Given the description of an element on the screen output the (x, y) to click on. 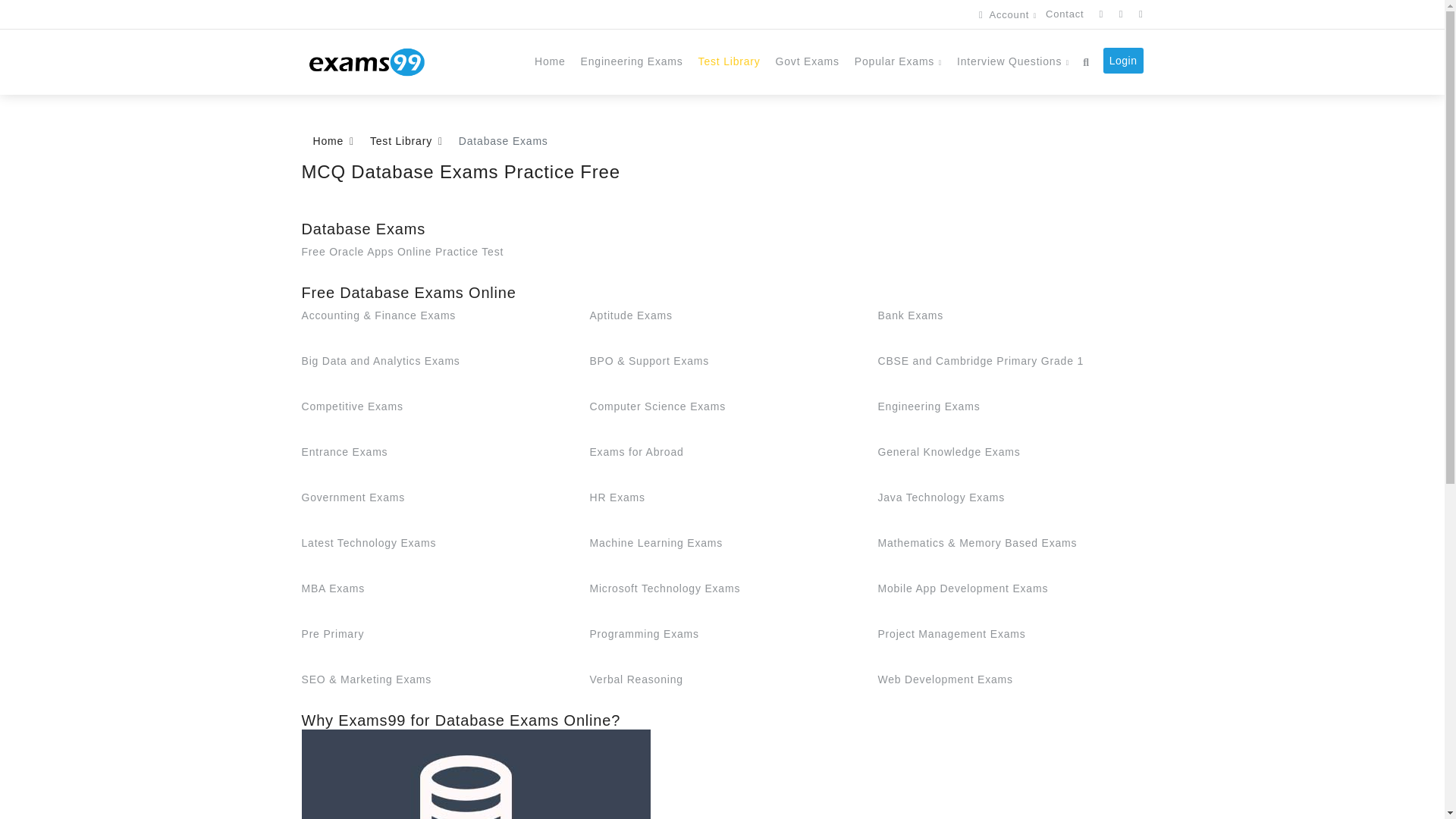
Contact (1064, 14)
Govt Exams (807, 61)
Home (550, 61)
Popular Exams (898, 61)
Test Library (729, 61)
Home (550, 61)
Contact (1064, 14)
Exams99.com (365, 61)
Engineering Exams (631, 61)
Popular Exams (898, 61)
Test Library (729, 61)
Engineering Exams (631, 61)
Govt Exams (807, 61)
Account (1007, 14)
